Given the description of an element on the screen output the (x, y) to click on. 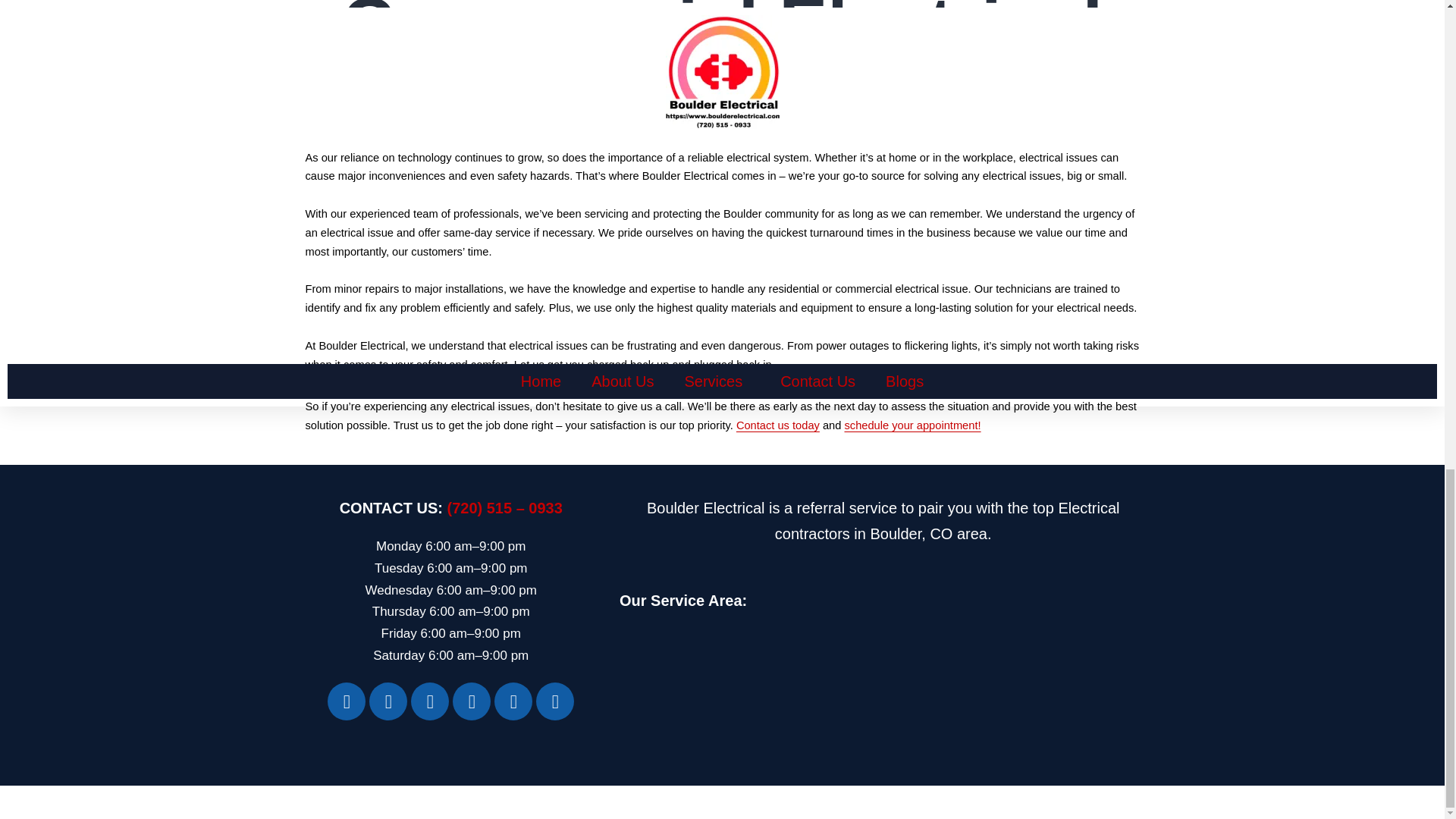
Contact us today (777, 425)
schedule your appointment! (911, 425)
Boulder. Colorado (883, 712)
